Given the description of an element on the screen output the (x, y) to click on. 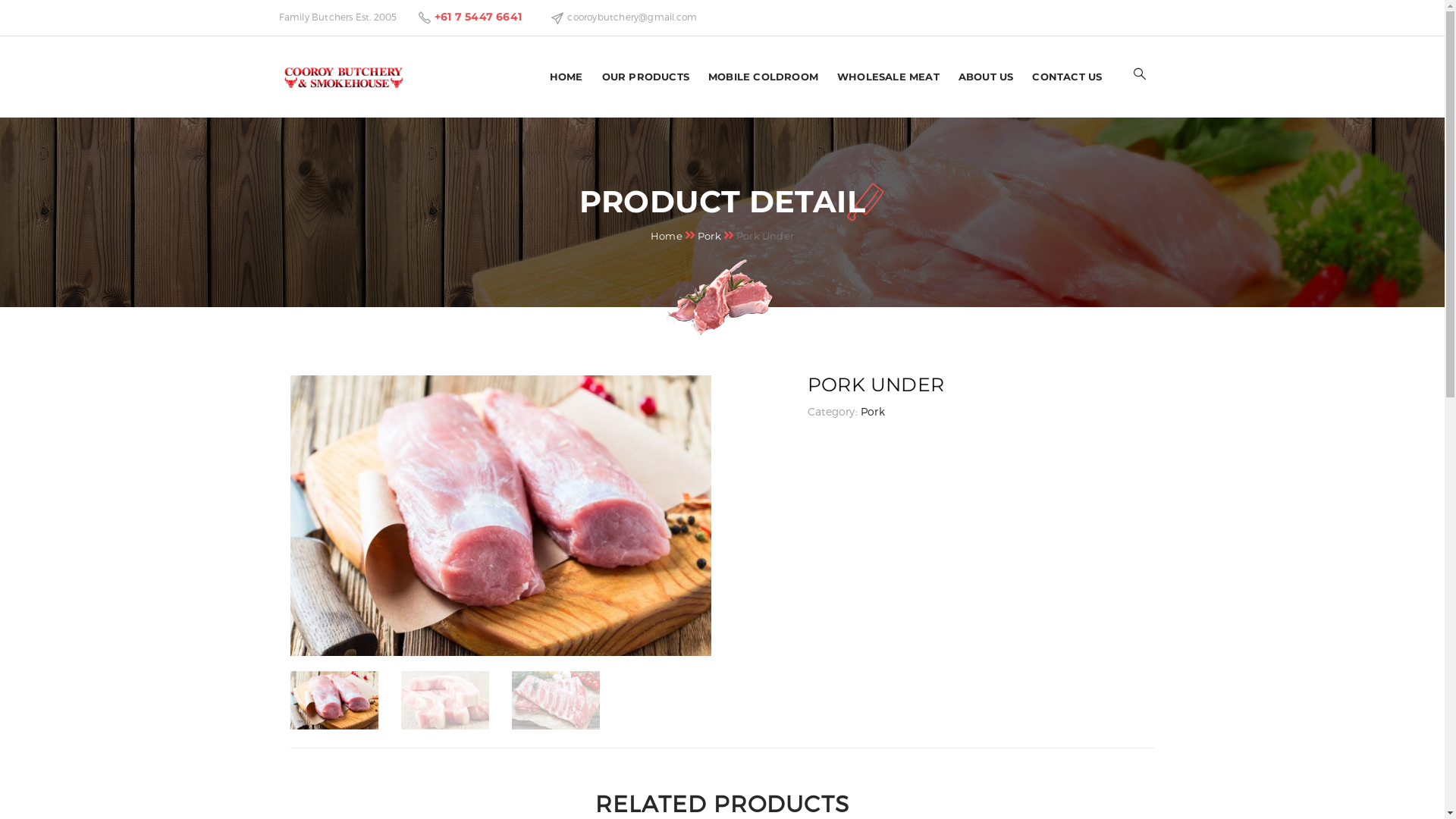
cooroybutchery@gmail.com Element type: text (631, 16)
p20 Element type: hover (445, 700)
OUR PRODUCTS Element type: text (645, 76)
MOBILE COLDROOM Element type: text (763, 76)
WHOLESALE MEAT Element type: text (888, 76)
CONTACT US Element type: text (1066, 76)
Home Element type: text (666, 235)
Pork Element type: text (872, 410)
p19 Element type: hover (499, 515)
p18 Element type: hover (555, 700)
p19 Element type: hover (333, 700)
ABOUT US Element type: text (985, 76)
HOME Element type: text (566, 76)
Pork Element type: text (709, 235)
